Given the description of an element on the screen output the (x, y) to click on. 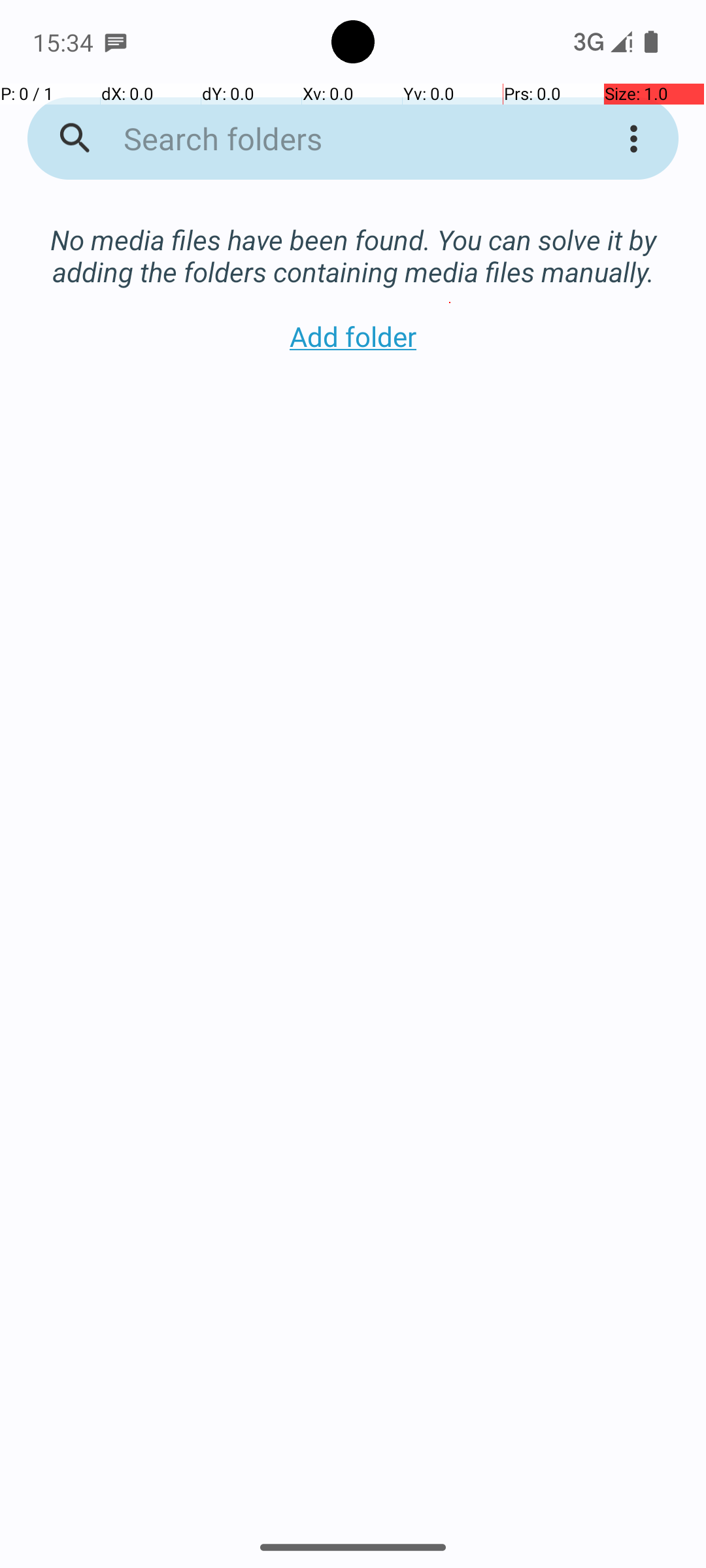
No media files have been found. You can solve it by adding the folders containing media files manually. Element type: android.widget.TextView (353, 241)
Add folder Element type: android.widget.TextView (352, 336)
Search folders Element type: android.widget.EditText (335, 138)
